Given the description of an element on the screen output the (x, y) to click on. 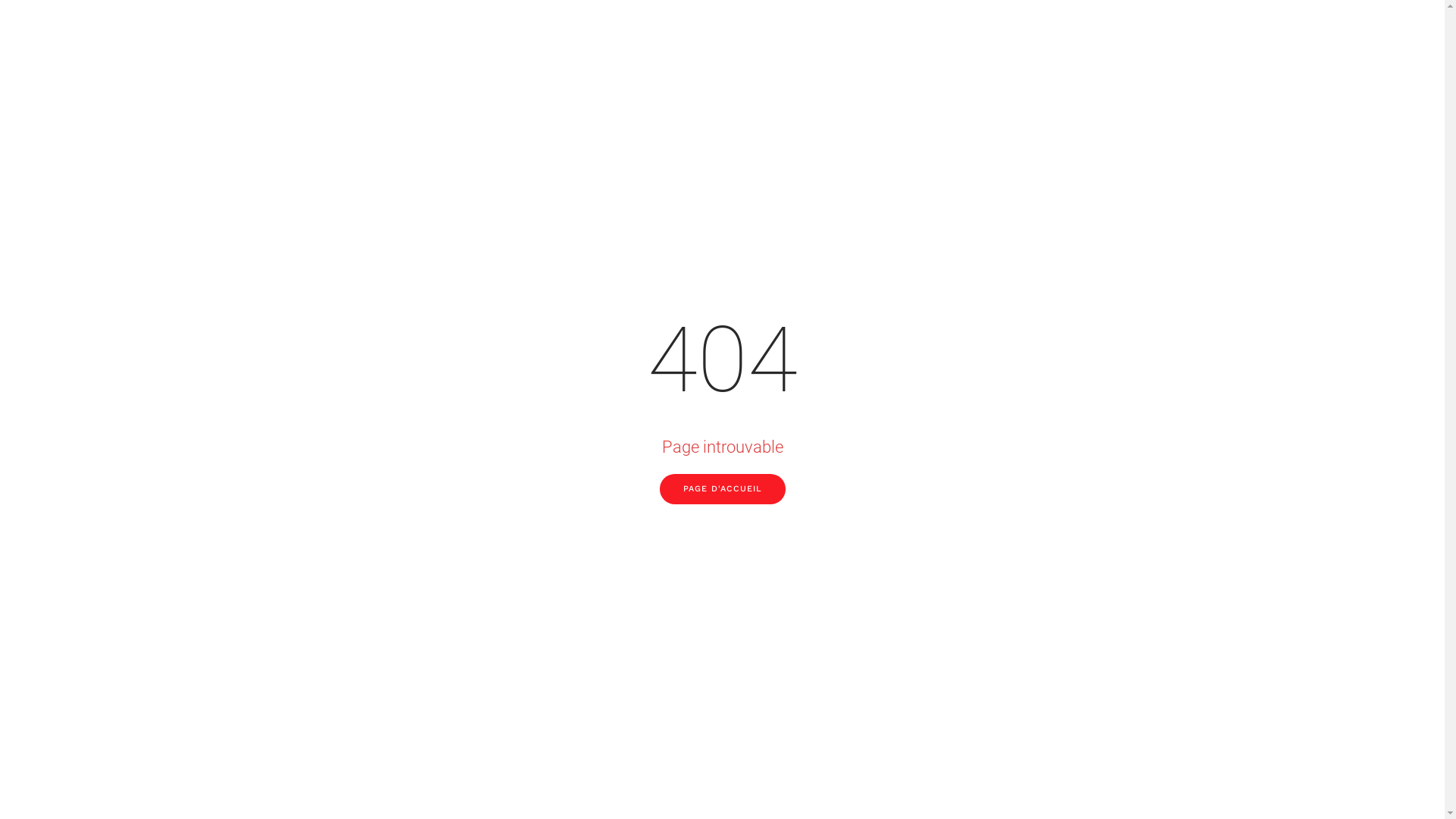
PAGE D'ACCUEIL Element type: text (722, 488)
